Given the description of an element on the screen output the (x, y) to click on. 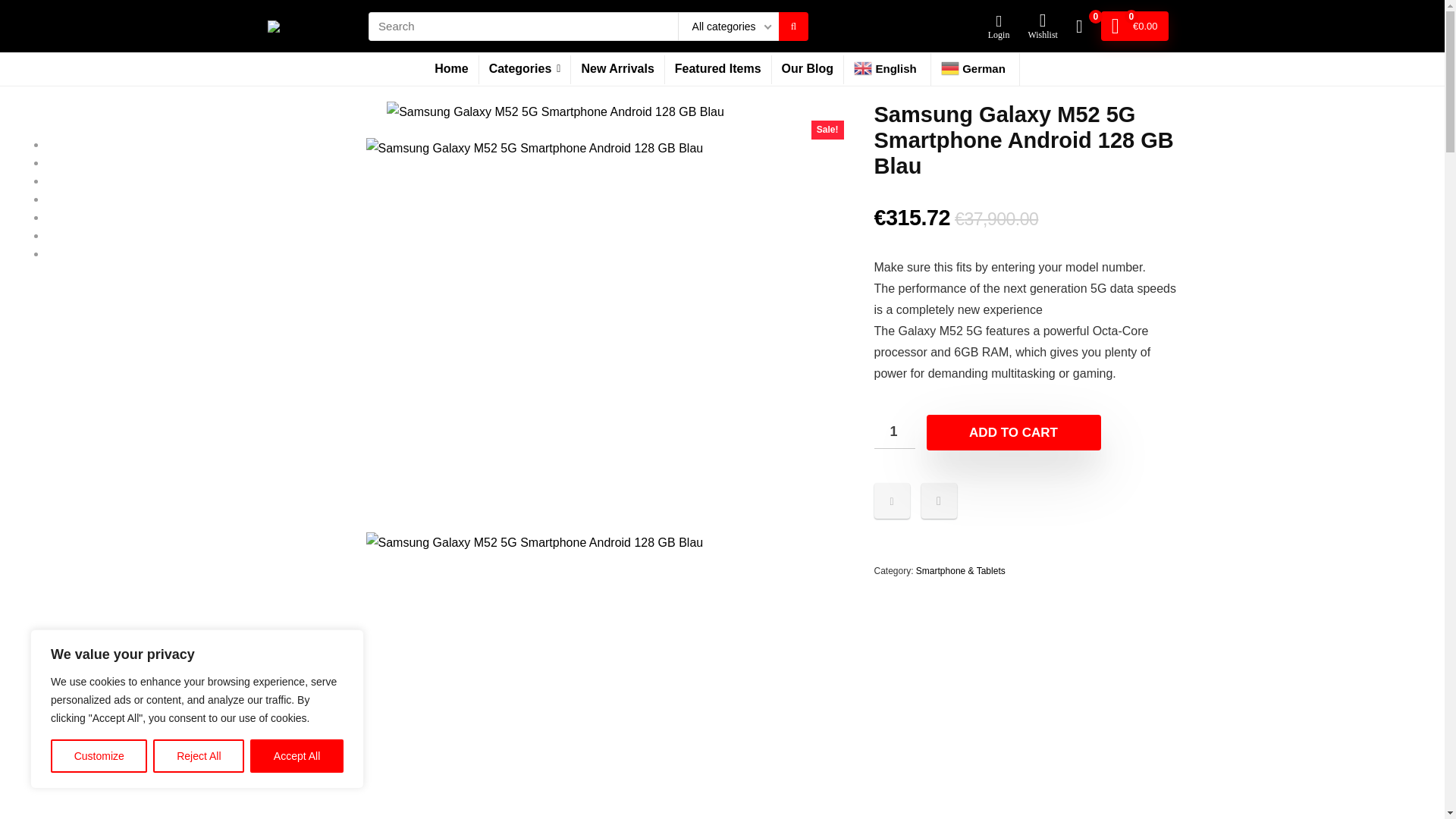
German (975, 69)
1 (893, 431)
Qty (893, 431)
Home (451, 68)
English (887, 69)
Categories (524, 68)
Reject All (198, 756)
German (975, 69)
Accept All (296, 756)
English (887, 69)
Featured Items (718, 68)
Customize (98, 756)
New Arrivals (616, 68)
Our Blog (807, 68)
